Given the description of an element on the screen output the (x, y) to click on. 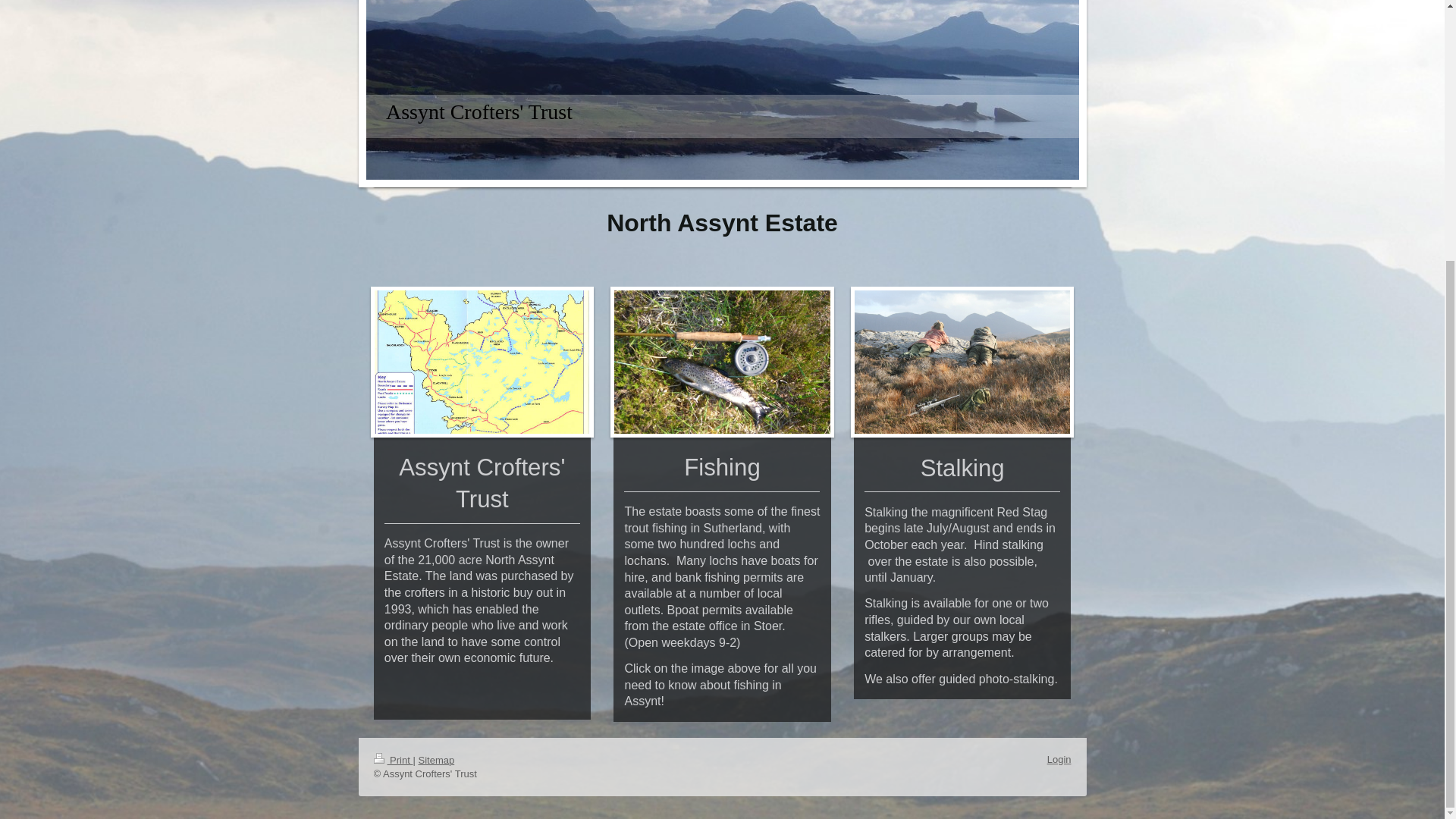
Assynt Crofters' Trust (478, 111)
Login (1058, 758)
Print (392, 759)
Sitemap (435, 759)
